Given the description of an element on the screen output the (x, y) to click on. 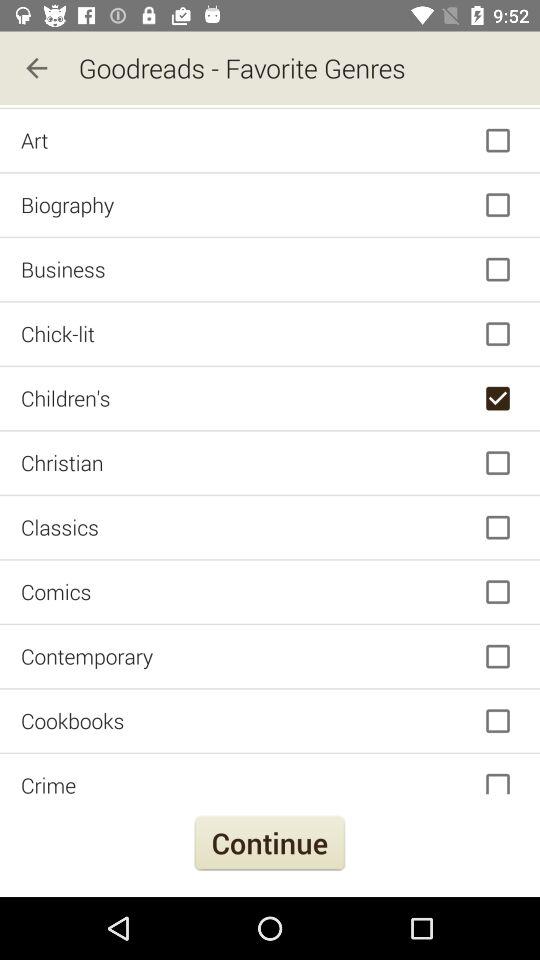
scroll until contemporary icon (270, 656)
